Given the description of an element on the screen output the (x, y) to click on. 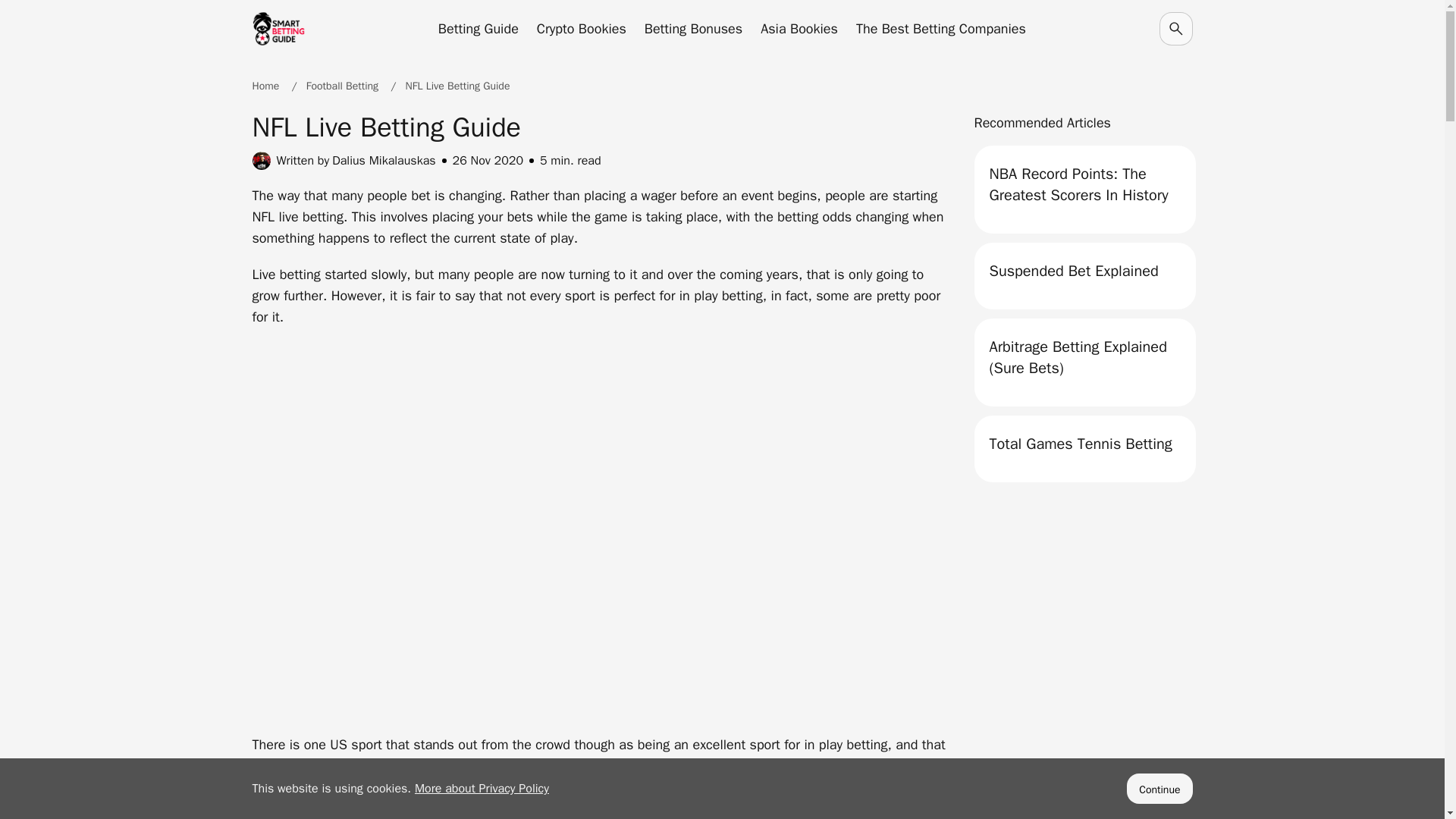
Betting Bonuses (693, 28)
Crypto Bookies (581, 28)
The Best Betting Companies (941, 28)
Asia Bookies (799, 28)
Betting Guide (478, 28)
